Given the description of an element on the screen output the (x, y) to click on. 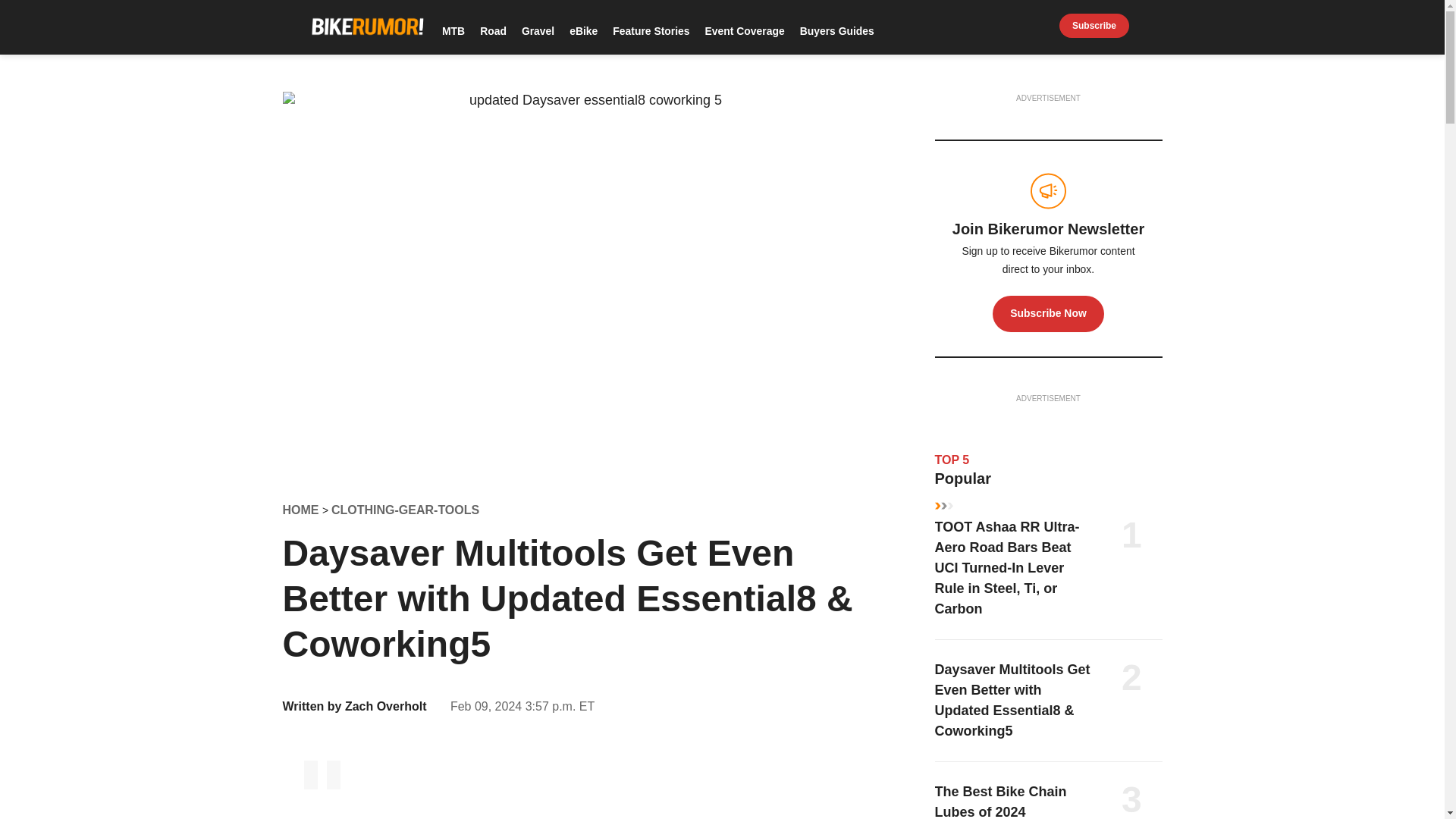
MTB (452, 30)
Buyers Guides (836, 30)
Search (1154, 25)
CLOTHING-GEAR-TOOLS (405, 509)
Subscribe (1094, 25)
Gravel (536, 30)
HOME (301, 509)
Road (492, 30)
Feature Stories (651, 30)
eBike (583, 30)
Zach Overholt (385, 706)
Posts by Zach Overholt (385, 706)
Event Coverage (744, 30)
